Given the description of an element on the screen output the (x, y) to click on. 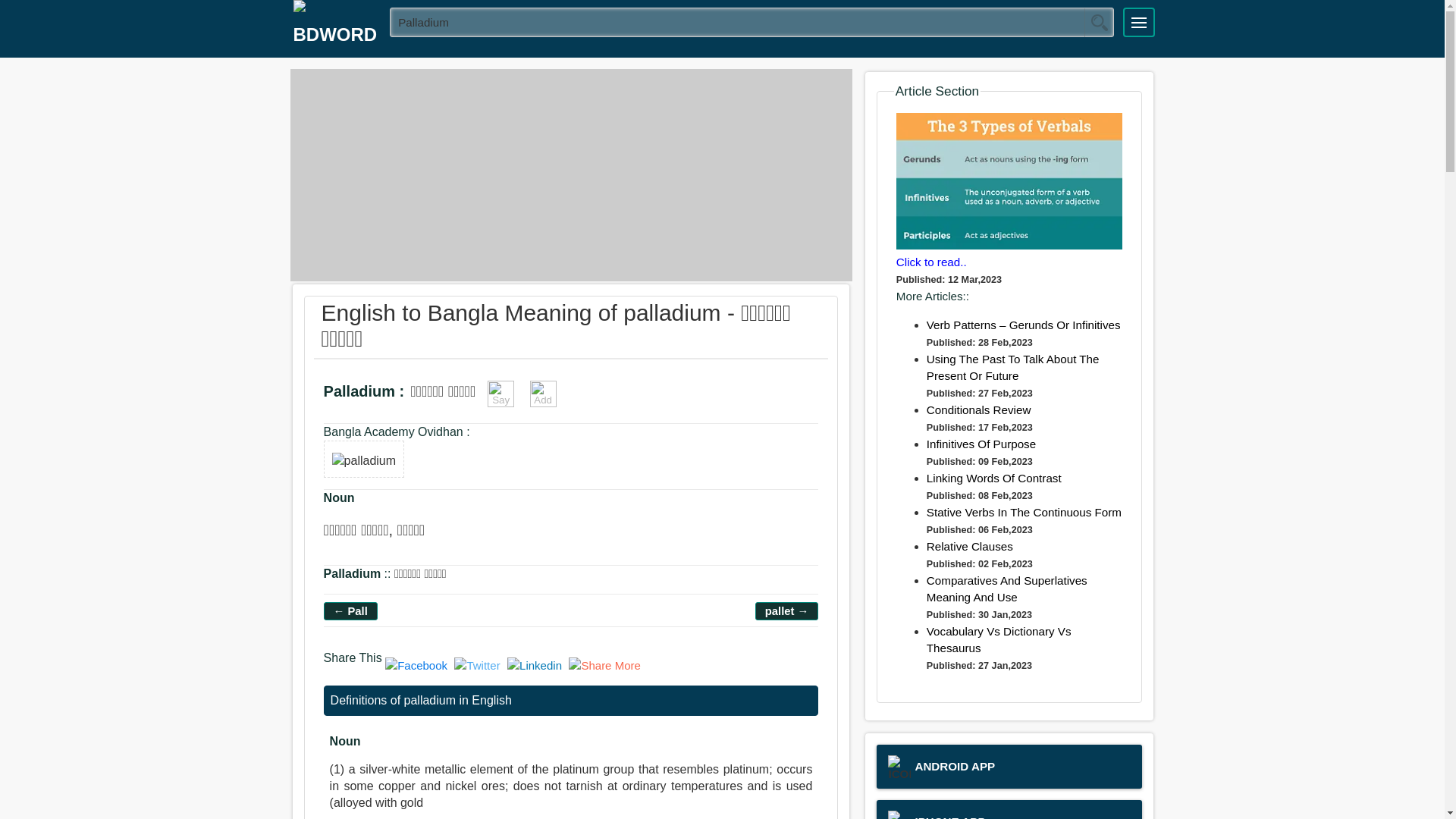
Search (1098, 22)
More Share (604, 664)
palladium (751, 21)
Add To Favorites (542, 393)
palladium (363, 457)
Linkedin (536, 664)
BDWORD (335, 28)
Advertisement (570, 174)
Facebook (418, 664)
English to Bangla meaning of pall (350, 610)
Twitter (478, 664)
Say The Word (500, 393)
English to Bangla meaning of pallet (786, 610)
